Given the description of an element on the screen output the (x, y) to click on. 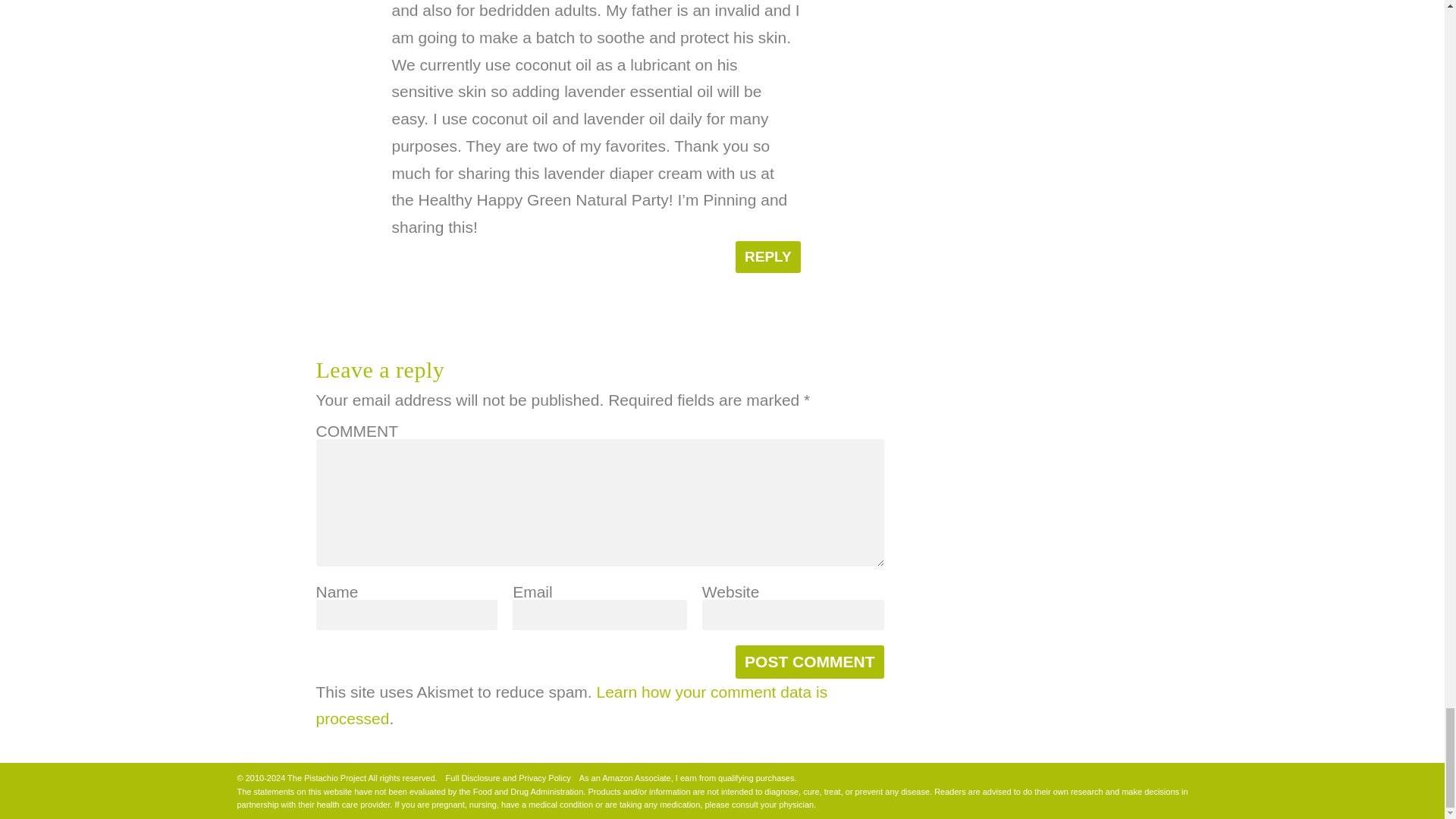
Post Comment (809, 661)
